Given the description of an element on the screen output the (x, y) to click on. 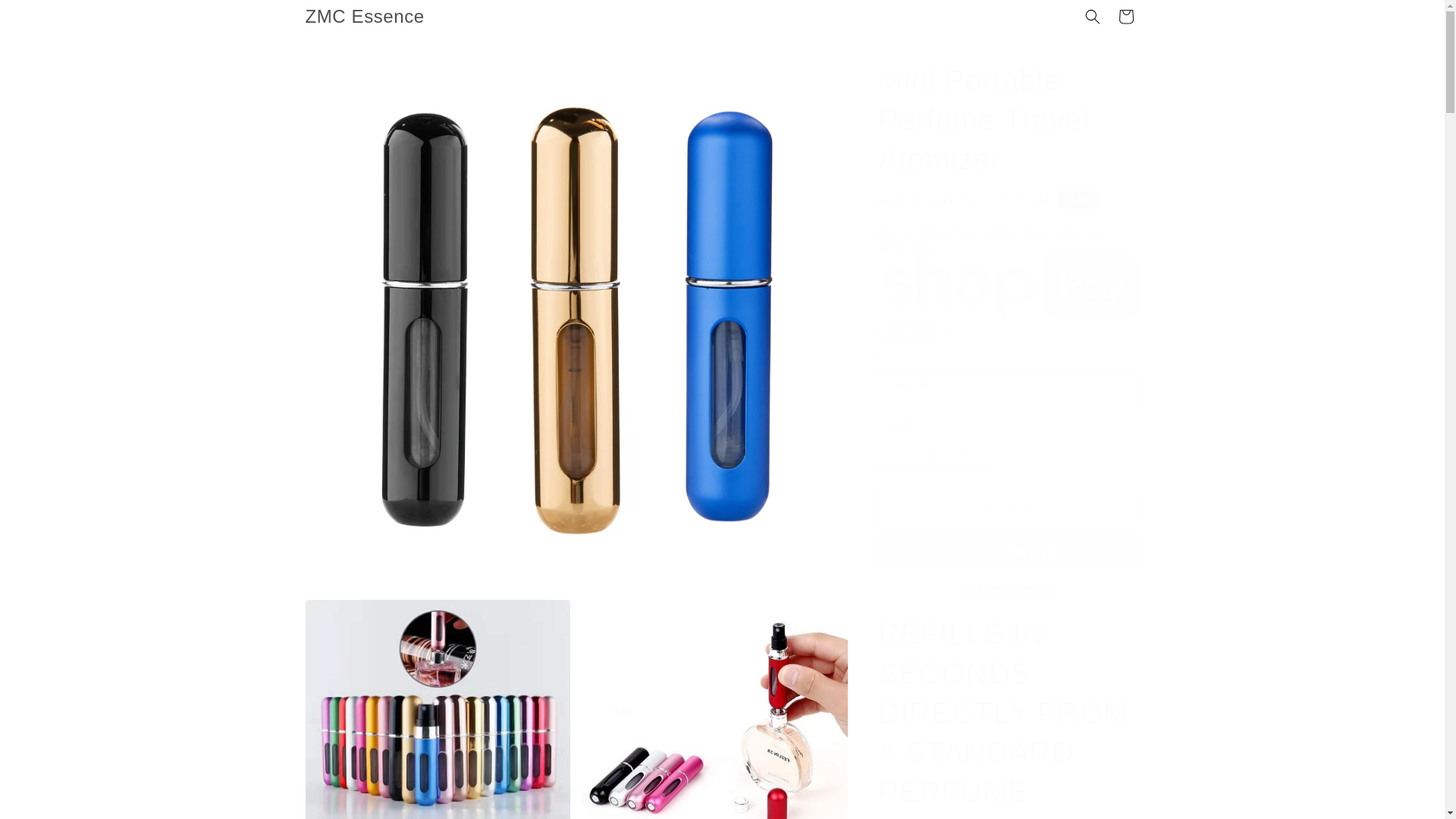
Open media 3 in modal (714, 709)
Decrease quantity for Mini Portable Perfume Travel Atomizer (894, 452)
Skip to product information (350, 62)
Increase quantity for Mini Portable Perfume Travel Atomizer (967, 452)
More payment options (1008, 587)
Open media 2 in modal (437, 709)
Cart (1124, 16)
Add to cart (1008, 507)
1 (931, 452)
ZMC Essence (364, 16)
Skip to content (45, 17)
